Given the description of an element on the screen output the (x, y) to click on. 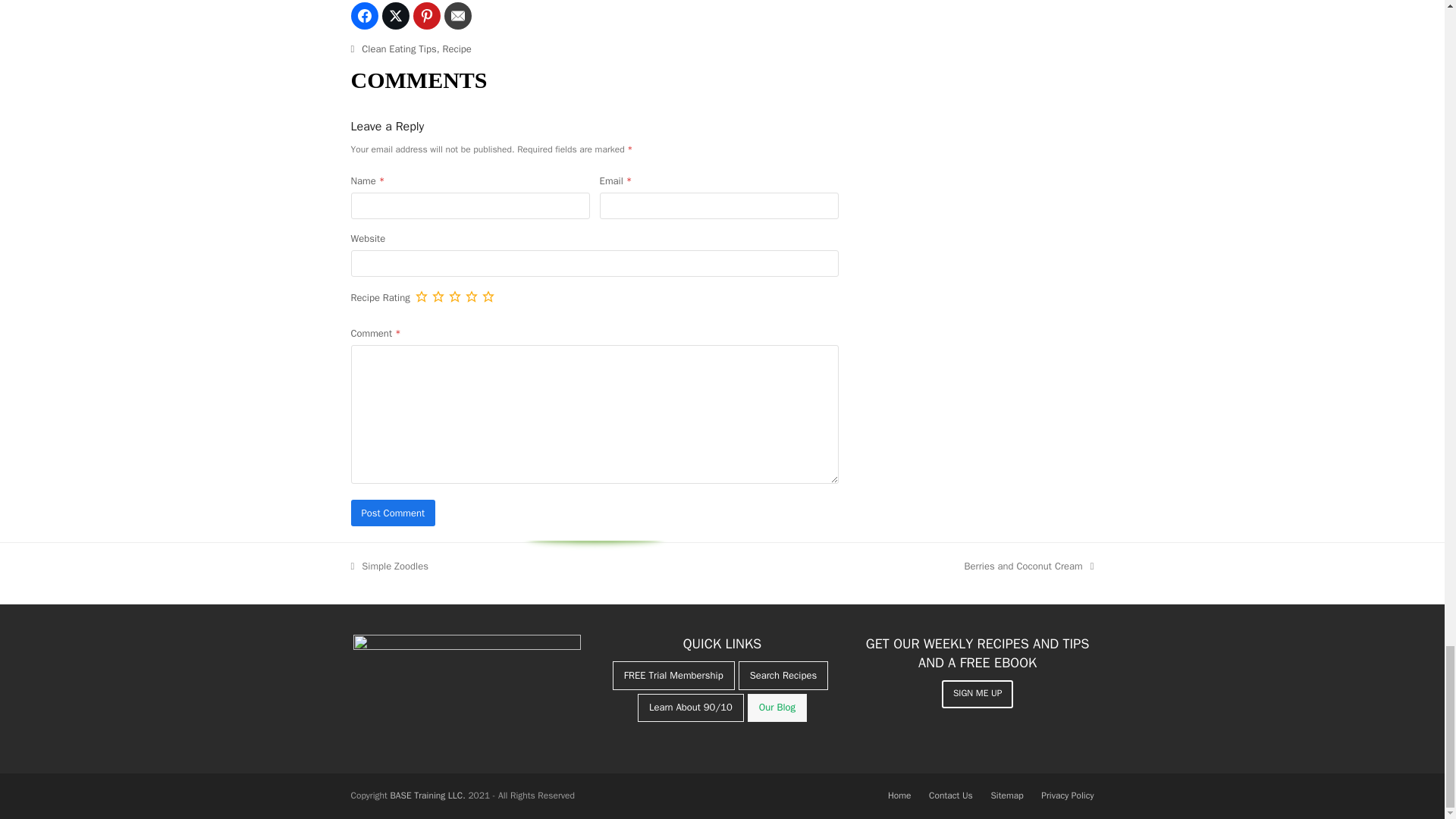
Share on Pinterest (425, 15)
Share on Twitter (395, 15)
Share on Facebook (363, 15)
Post Comment (392, 512)
